Given the description of an element on the screen output the (x, y) to click on. 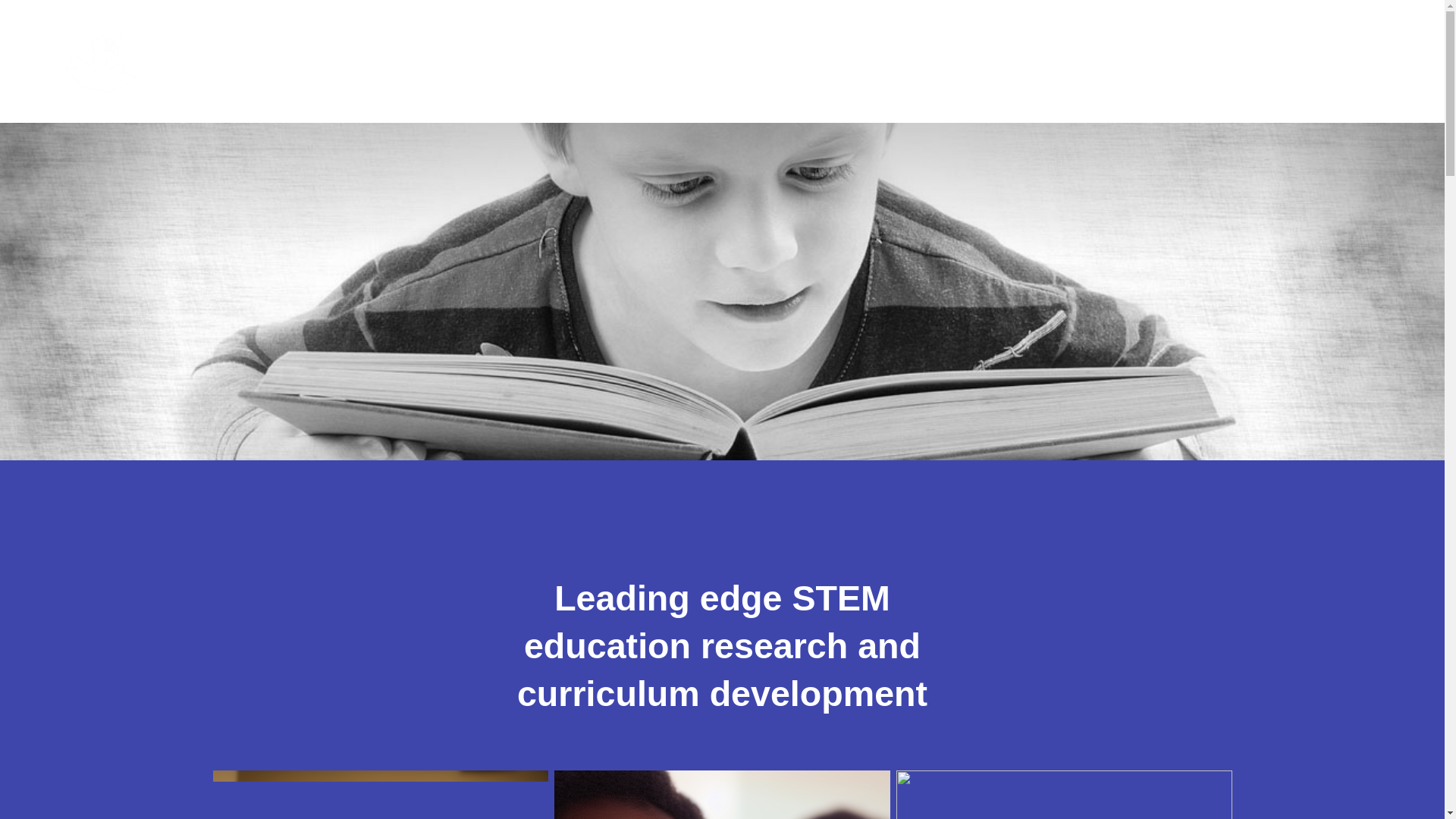
Search Toggle (1372, 60)
Contact (1297, 61)
